Given the description of an element on the screen output the (x, y) to click on. 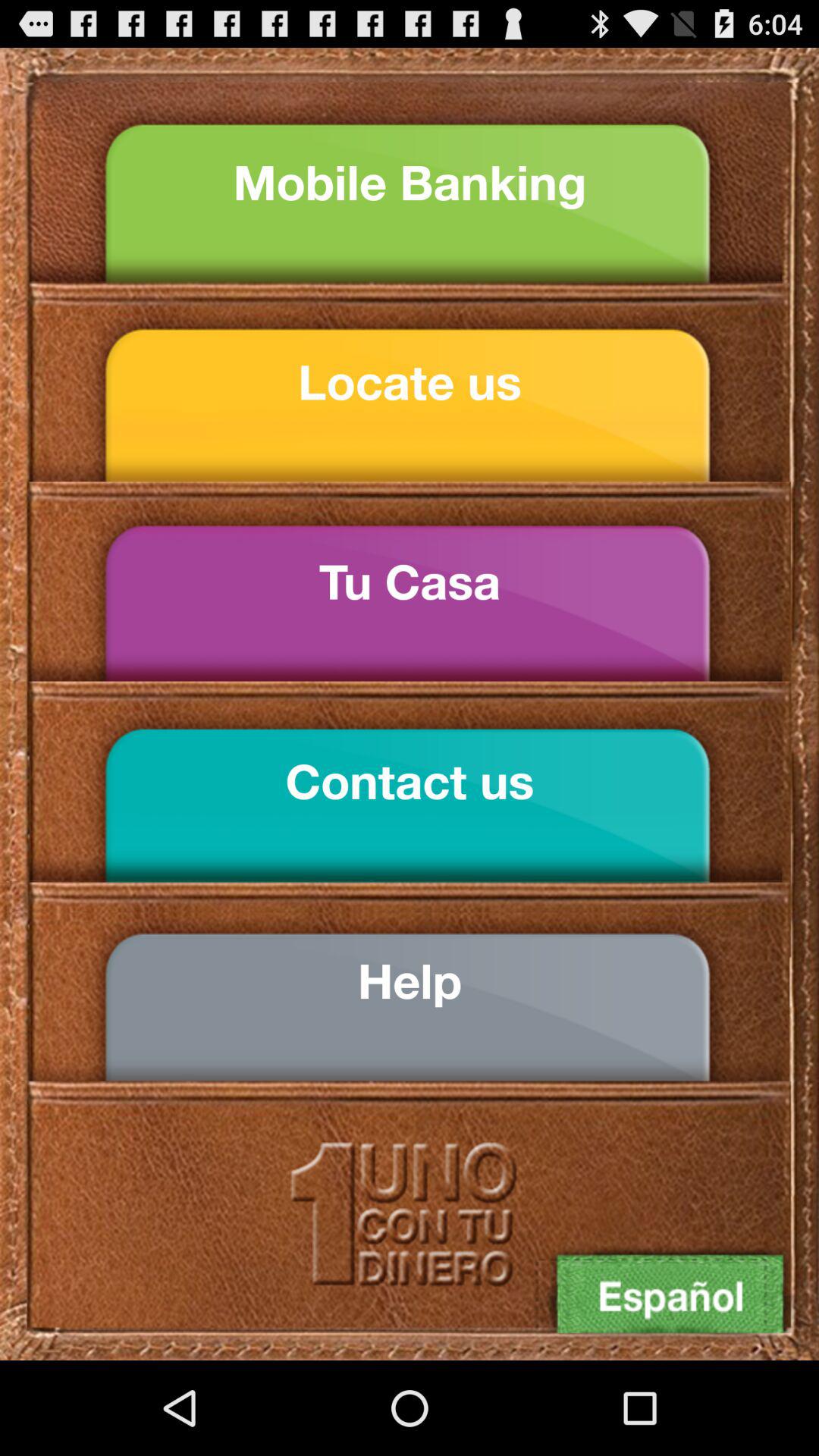
flip to the tu casa app (409, 581)
